Given the description of an element on the screen output the (x, y) to click on. 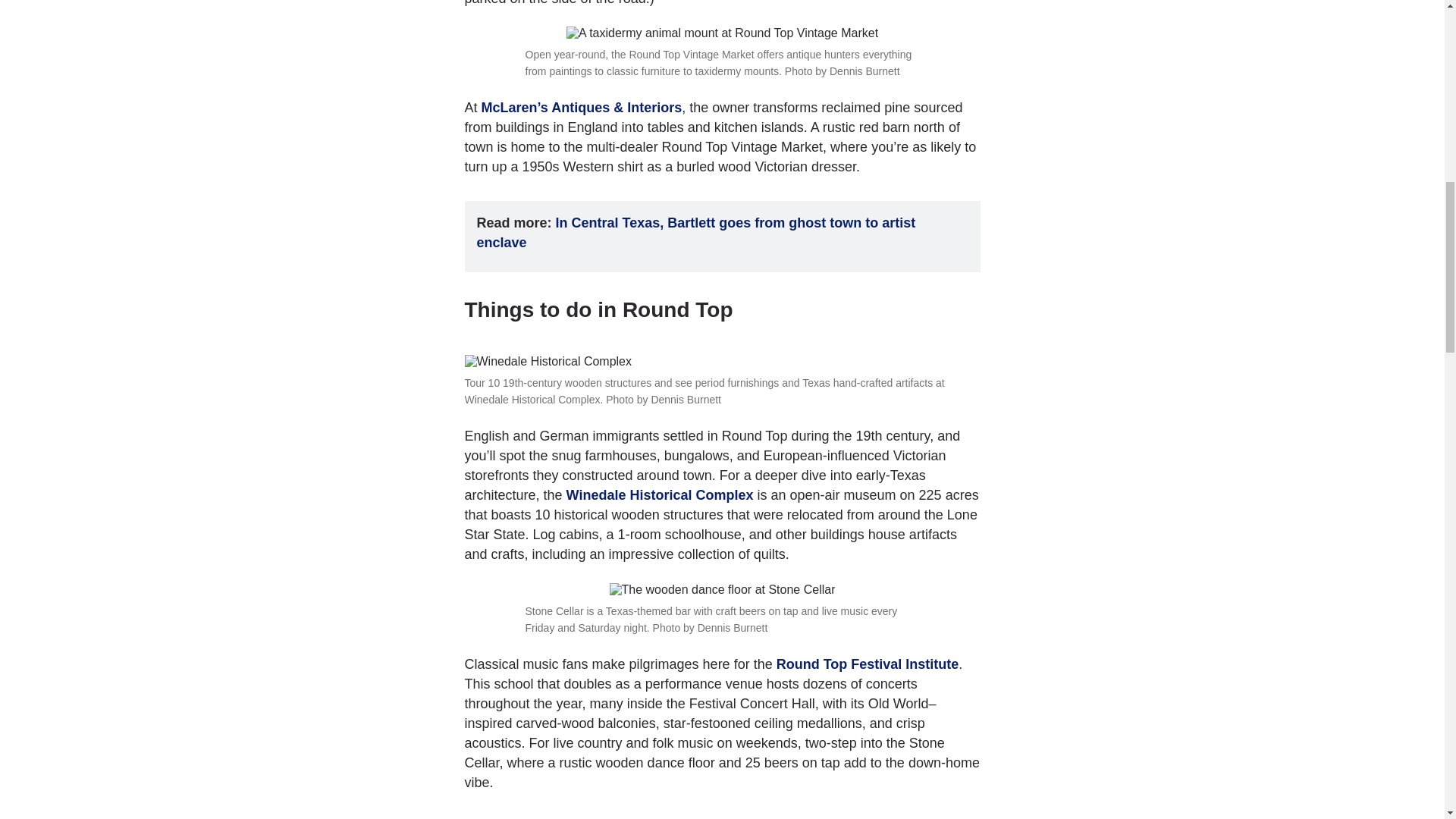
Round Top Festival Institute (867, 663)
Winedale Historical Complex (660, 494)
